Given the description of an element on the screen output the (x, y) to click on. 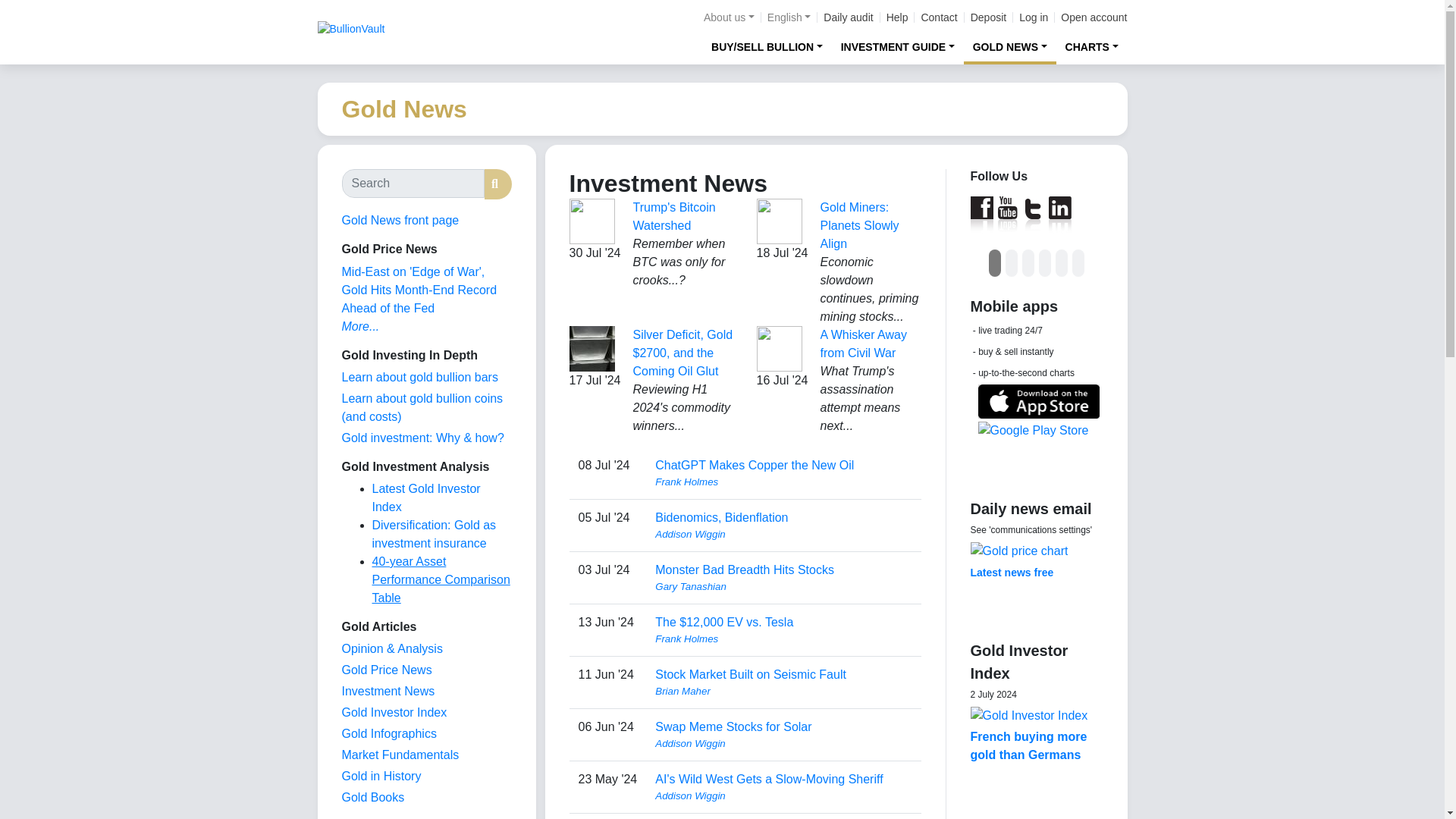
Contact (938, 17)
View user profile. (783, 586)
Gold in History (380, 775)
Daily audit (848, 17)
English (788, 17)
View user profile. (783, 795)
View user profile. (783, 482)
Gold Infographics (387, 733)
View user profile. (783, 534)
The View from the Vault (391, 648)
Open account (1093, 17)
Market Fundamentals (399, 754)
Log in (1033, 17)
Gold Price News (385, 669)
Gold Investor Index (393, 712)
